Given the description of an element on the screen output the (x, y) to click on. 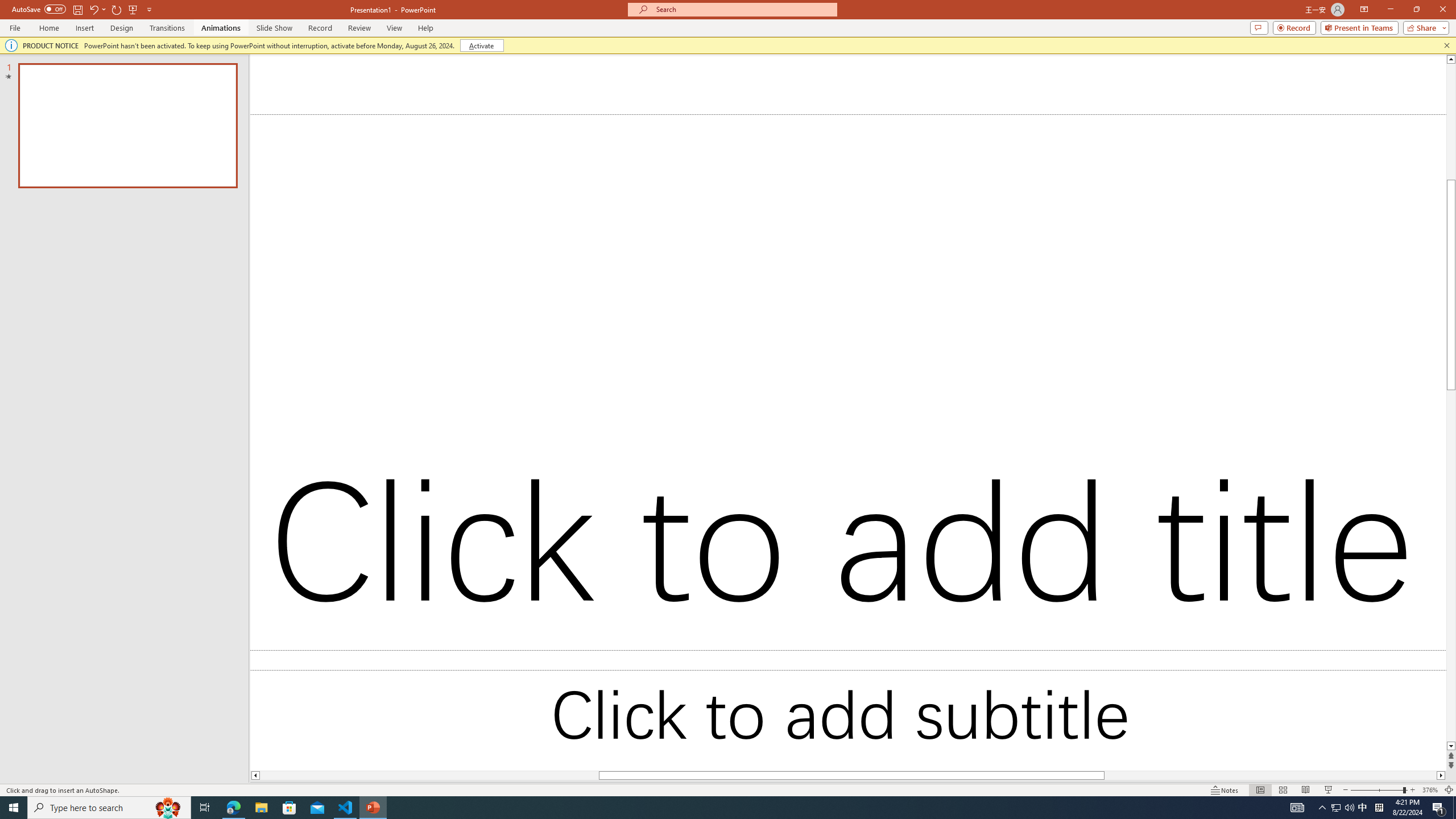
Class: NetUIScrollBar (1278, 450)
Office Clipboard... (73, 128)
Clear Formatting (328, 77)
b63ee27f-4cf3-414c-9275-d88e3f90795e (1369, 227)
Disable Linked Styles (1350, 725)
Sort... (599, 77)
Subtitle (1369, 342)
